Given the description of an element on the screen output the (x, y) to click on. 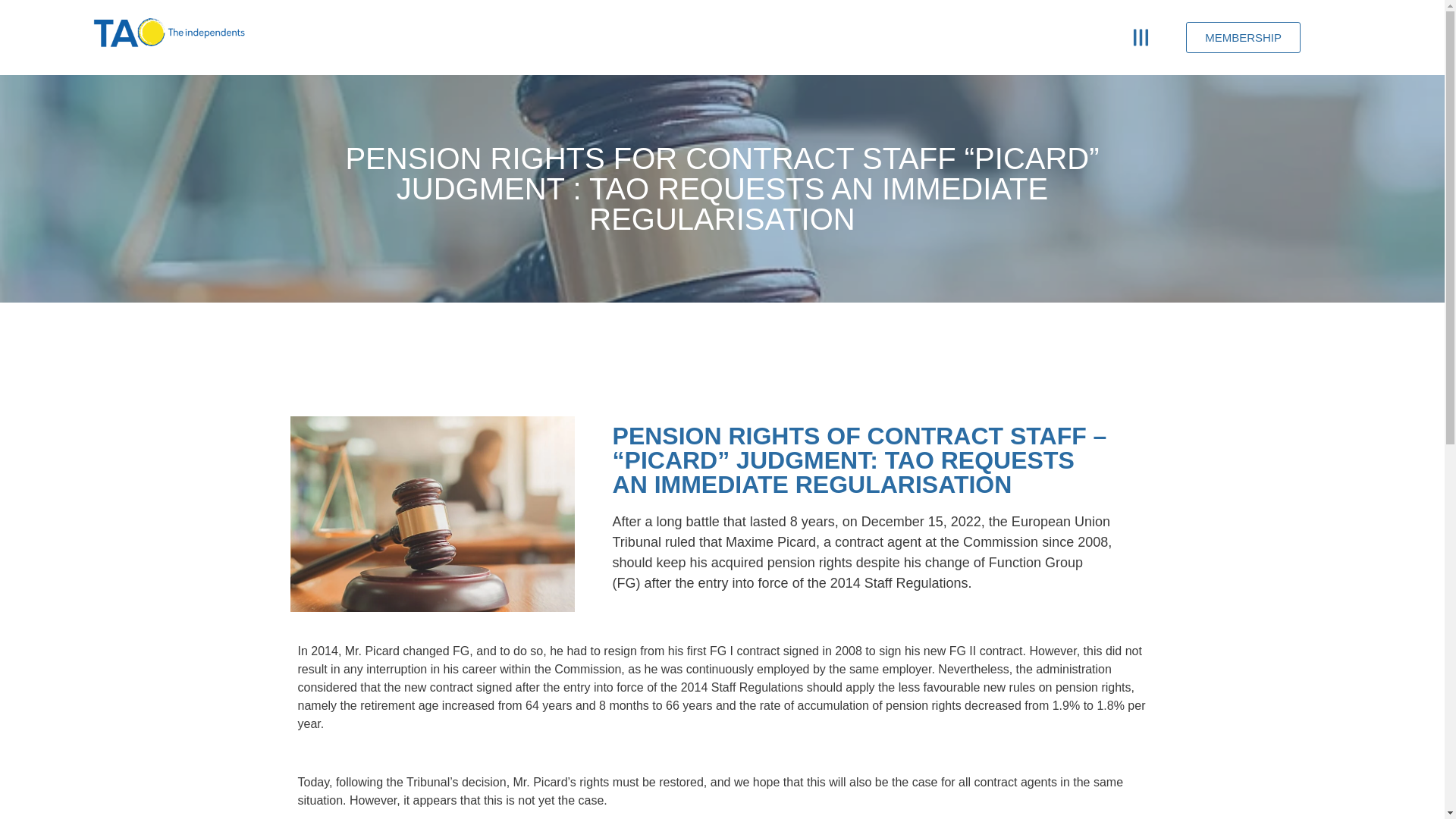
MEMBERSHIP (1243, 11)
